Given the description of an element on the screen output the (x, y) to click on. 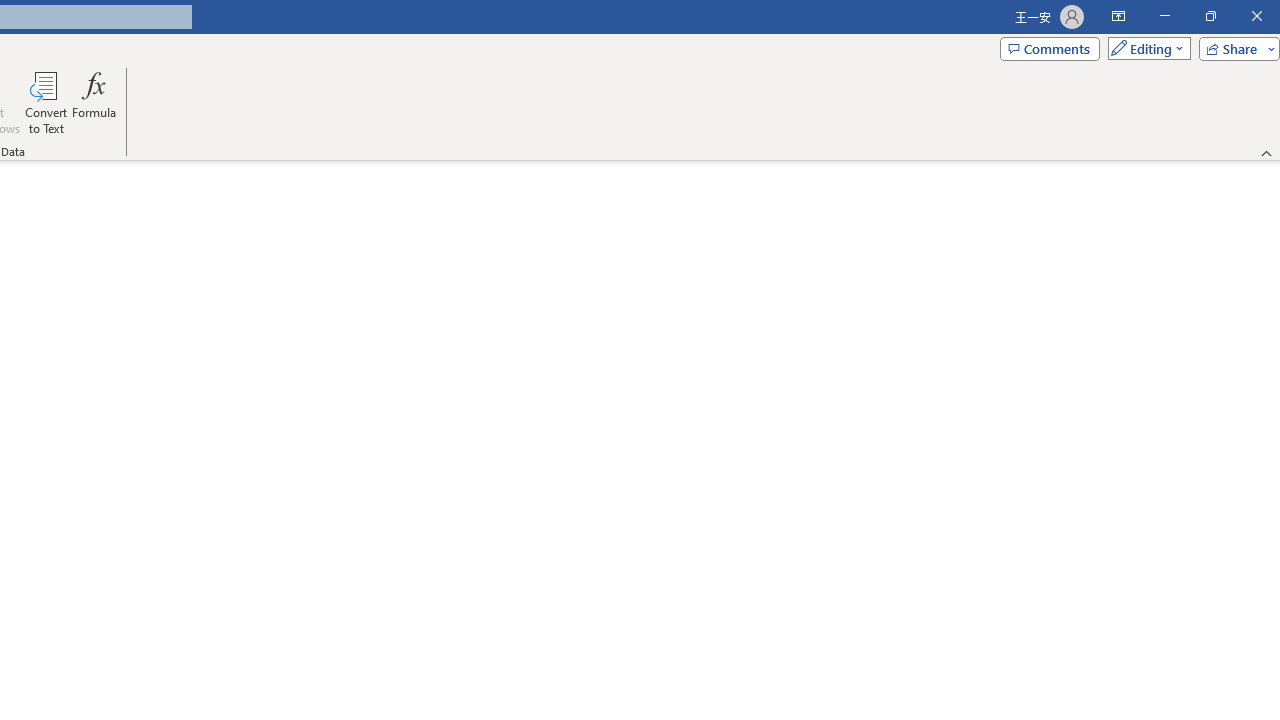
Comments (1049, 48)
Close (1256, 16)
Collapse the Ribbon (1267, 152)
Minimize (1164, 16)
Ribbon Display Options (1118, 16)
Restore Down (1210, 16)
Editing (1144, 47)
Share (1235, 48)
Convert to Text... (46, 102)
Formula... (94, 102)
